Given the description of an element on the screen output the (x, y) to click on. 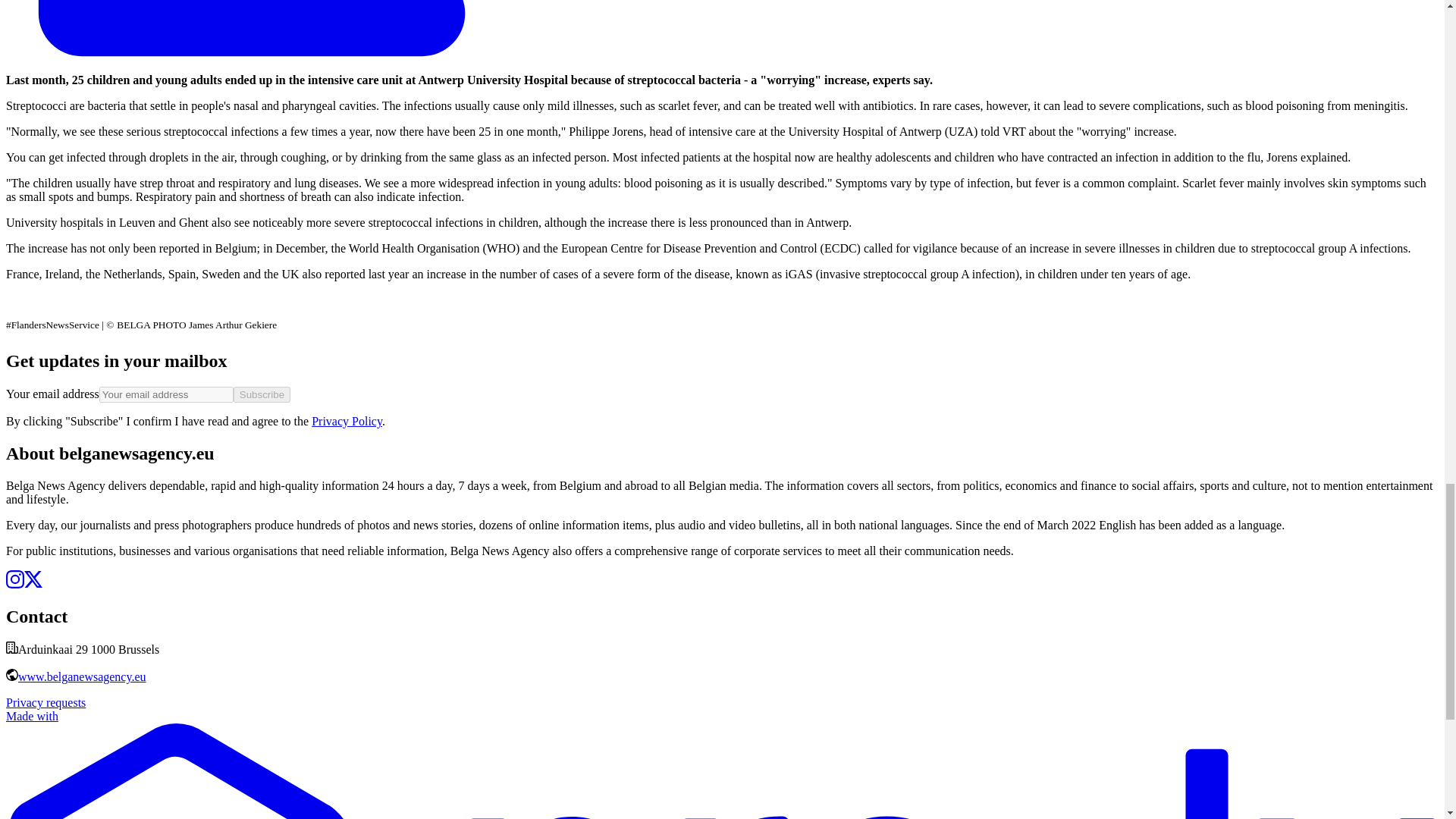
Subscribe (260, 394)
Privacy Policy (346, 420)
Privacy requests (45, 702)
X (33, 584)
Instagram (14, 584)
www.belganewsagency.eu (82, 676)
